Given the description of an element on the screen output the (x, y) to click on. 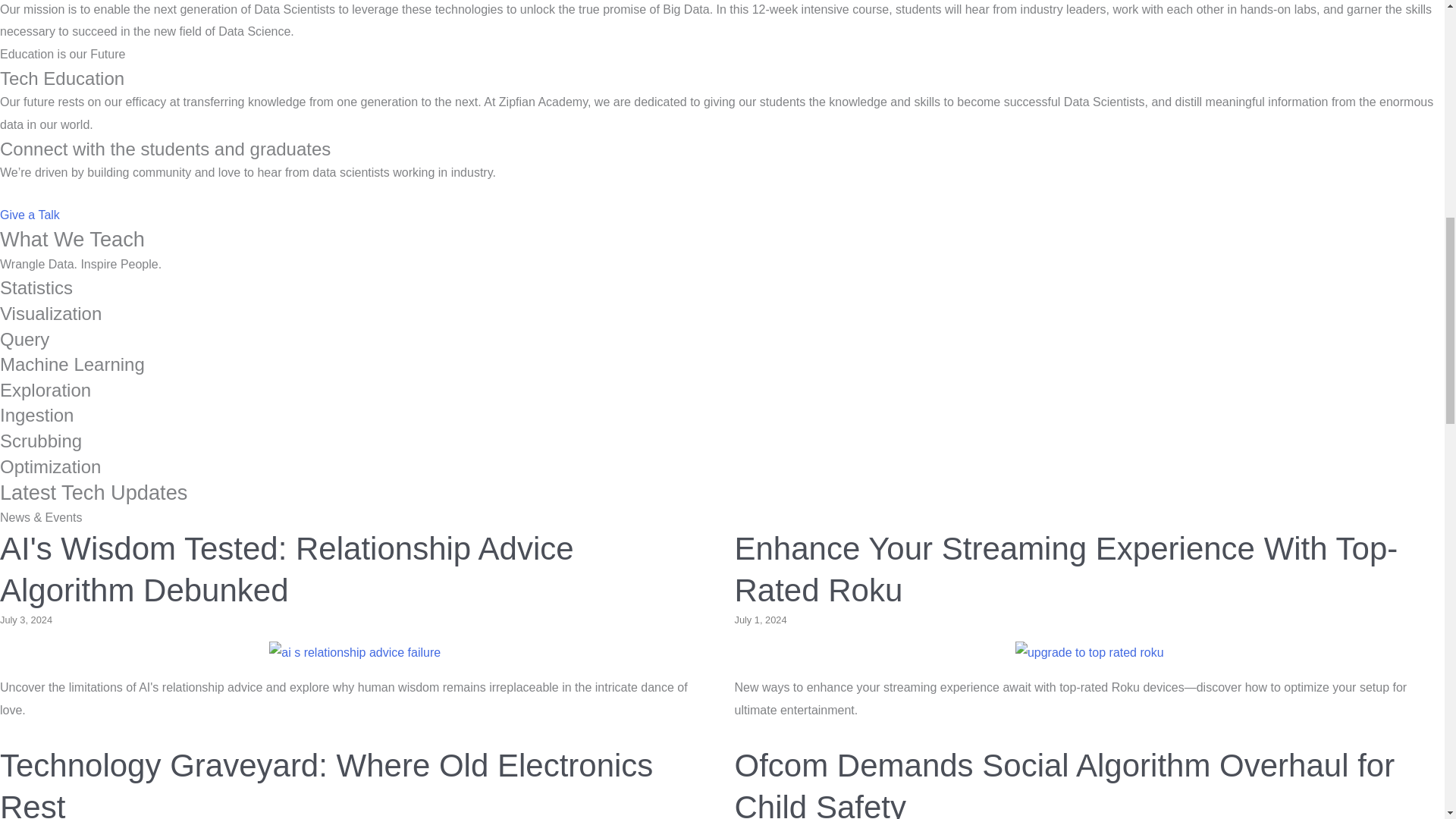
Give a Talk (29, 214)
Ofcom Demands Social Algorithm Overhaul for Child Safety (1063, 783)
Technology Graveyard: Where Old Electronics Rest (326, 783)
July 1, 2024 (759, 619)
AI's Wisdom Tested: Relationship Advice Algorithm Debunked (355, 652)
AI's Wisdom Tested: Relationship Advice Algorithm Debunked (286, 569)
9:14 pm (759, 619)
Enhance Your Streaming Experience With Top-Rated Roku (1088, 652)
6:50 am (26, 619)
July 3, 2024 (26, 619)
